Given the description of an element on the screen output the (x, y) to click on. 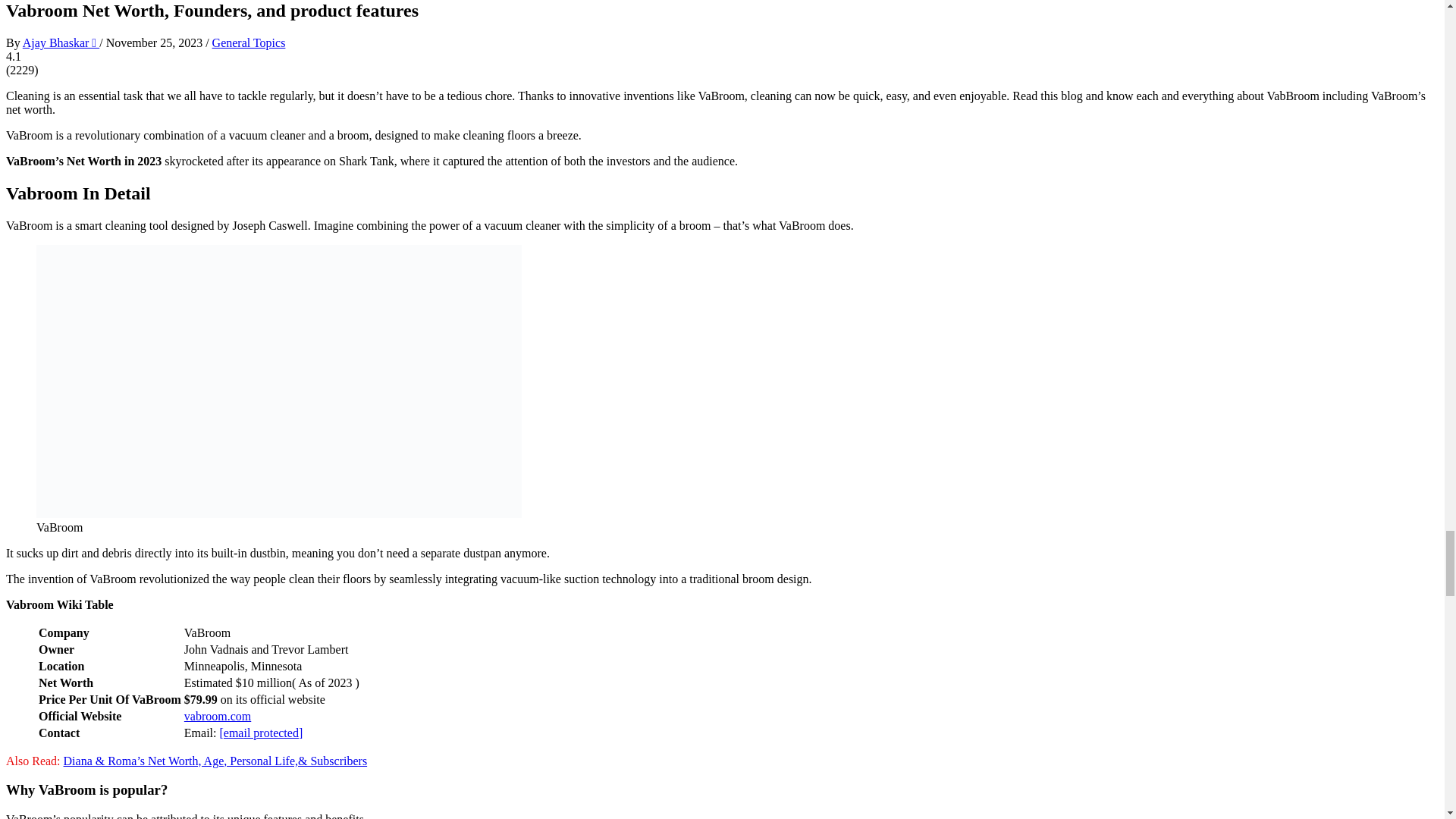
General Topics (248, 42)
vabroom.com (217, 716)
